Given the description of an element on the screen output the (x, y) to click on. 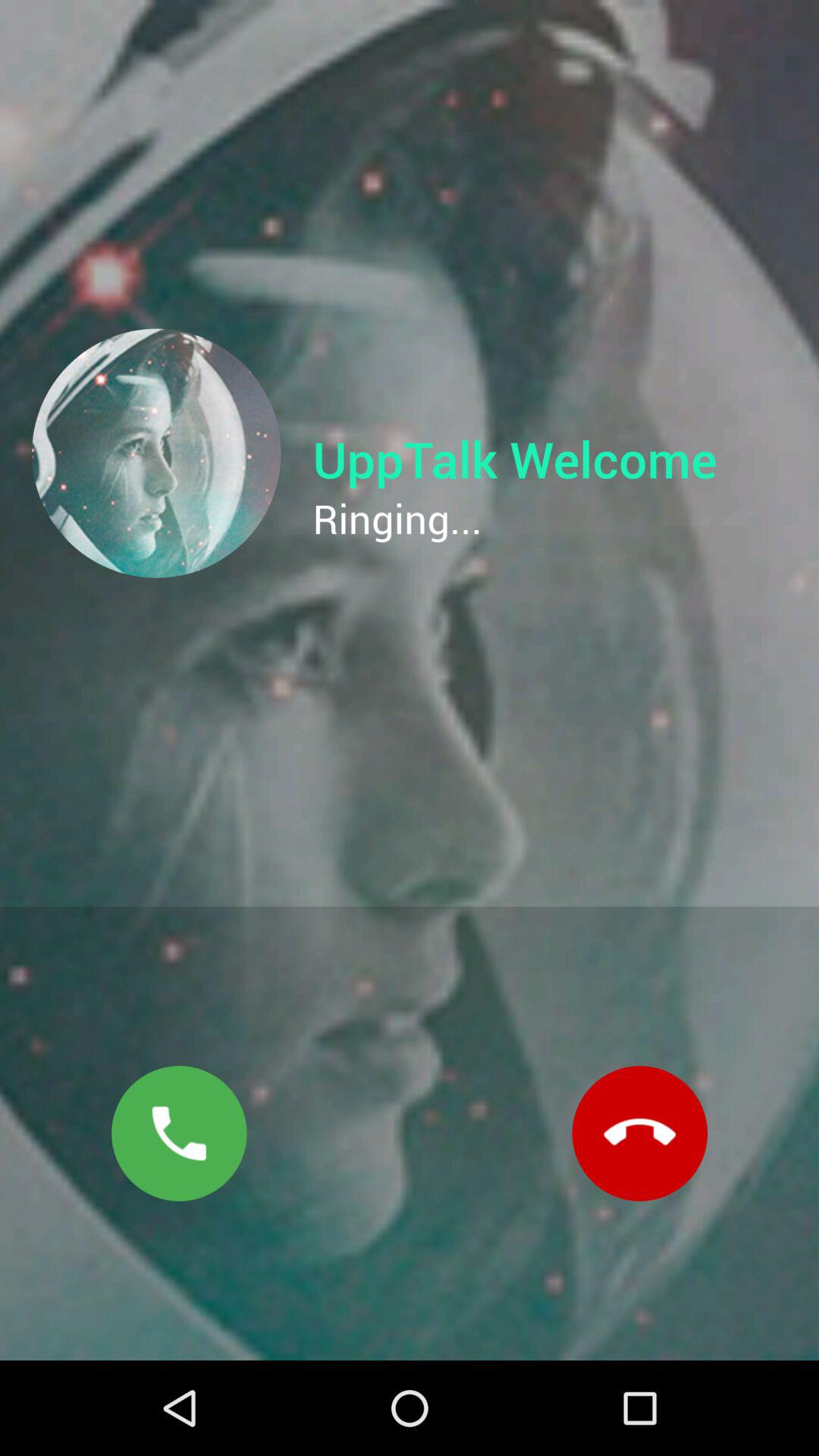
answer call (178, 1133)
